Given the description of an element on the screen output the (x, y) to click on. 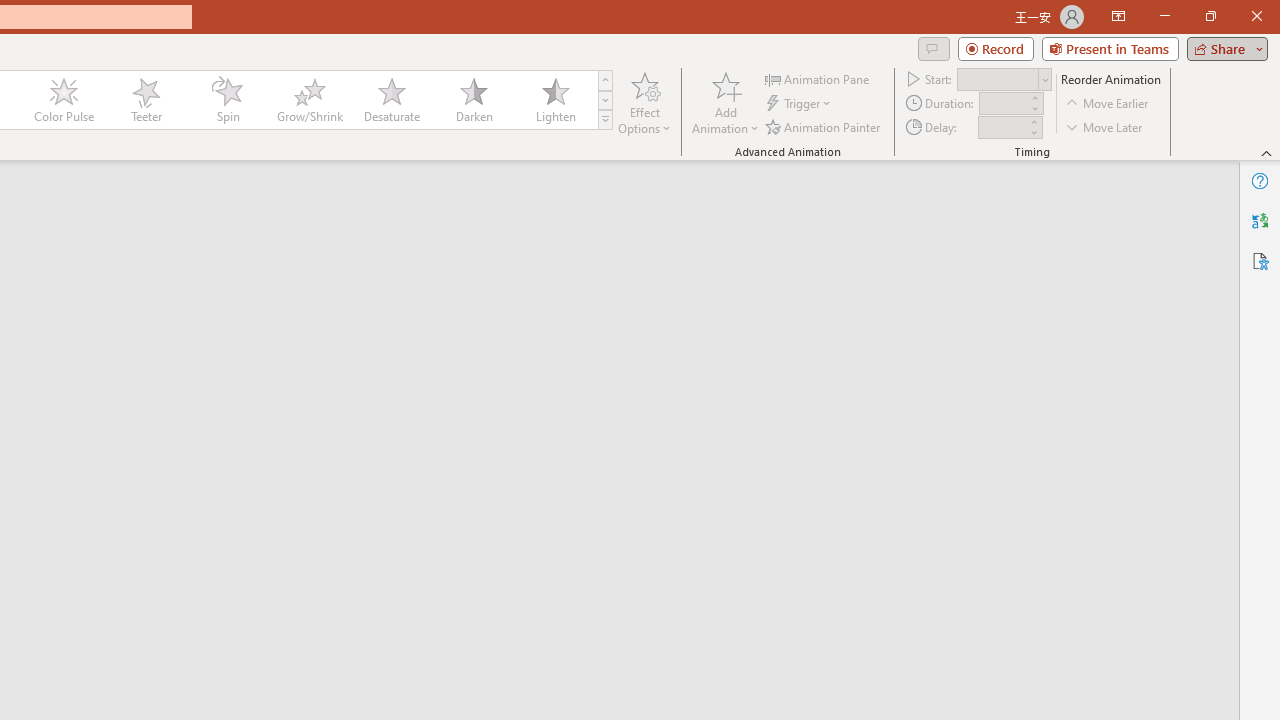
Color Pulse (63, 100)
Spin (227, 100)
Effect Options (644, 102)
Move Later (1105, 126)
